Given the description of an element on the screen output the (x, y) to click on. 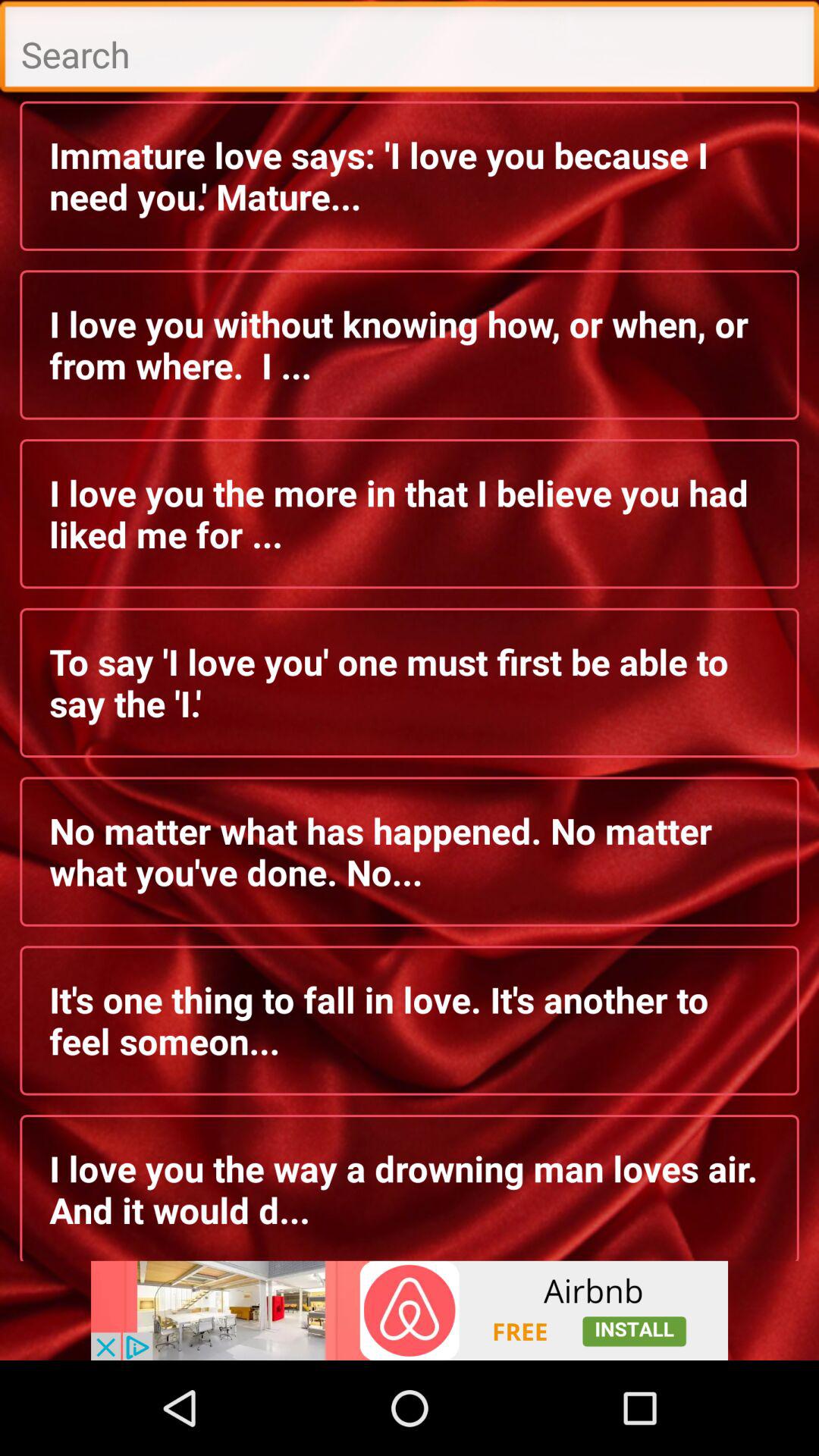
open advertisement (409, 1310)
